Given the description of an element on the screen output the (x, y) to click on. 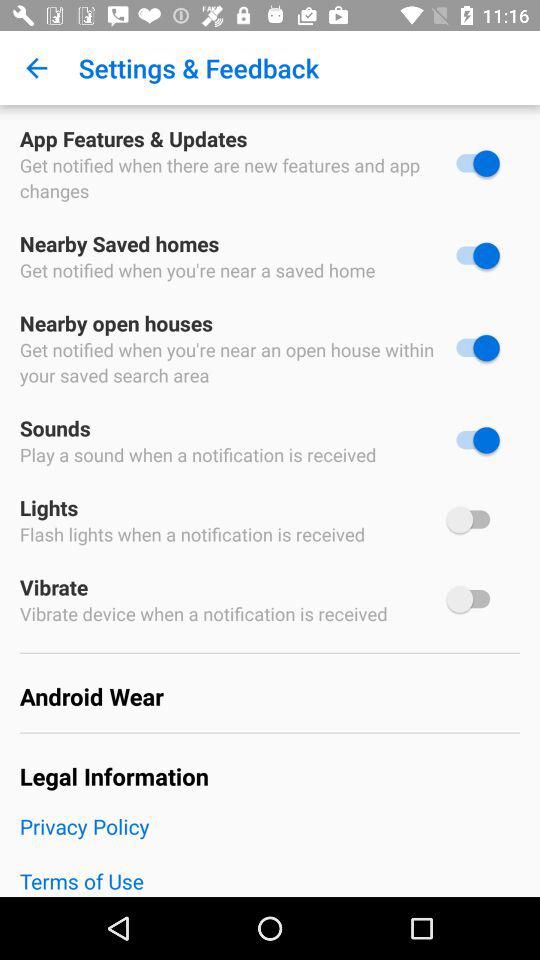
tap the icon above app features & updates icon (36, 68)
